Given the description of an element on the screen output the (x, y) to click on. 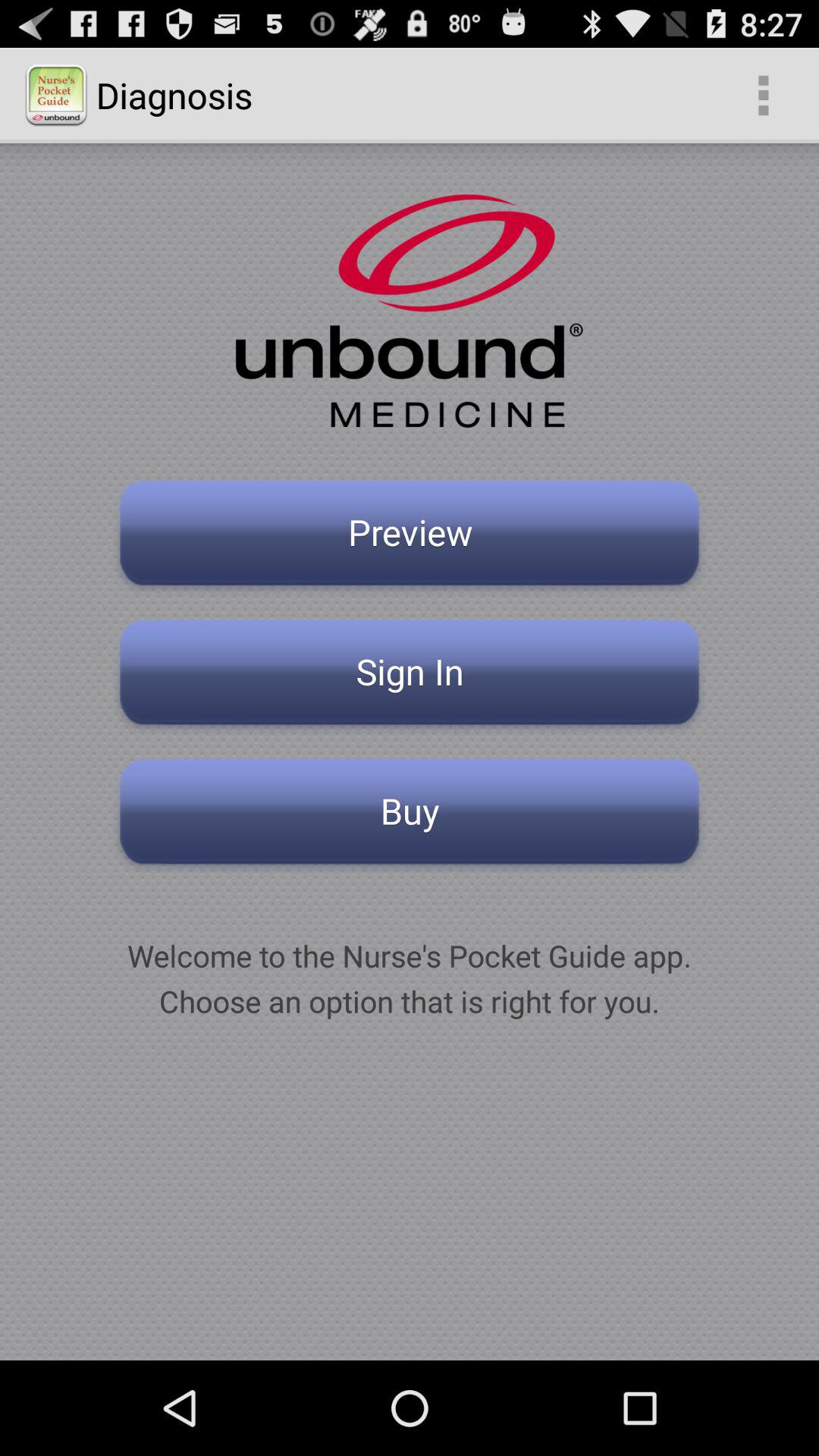
press button below sign in (409, 815)
